Given the description of an element on the screen output the (x, y) to click on. 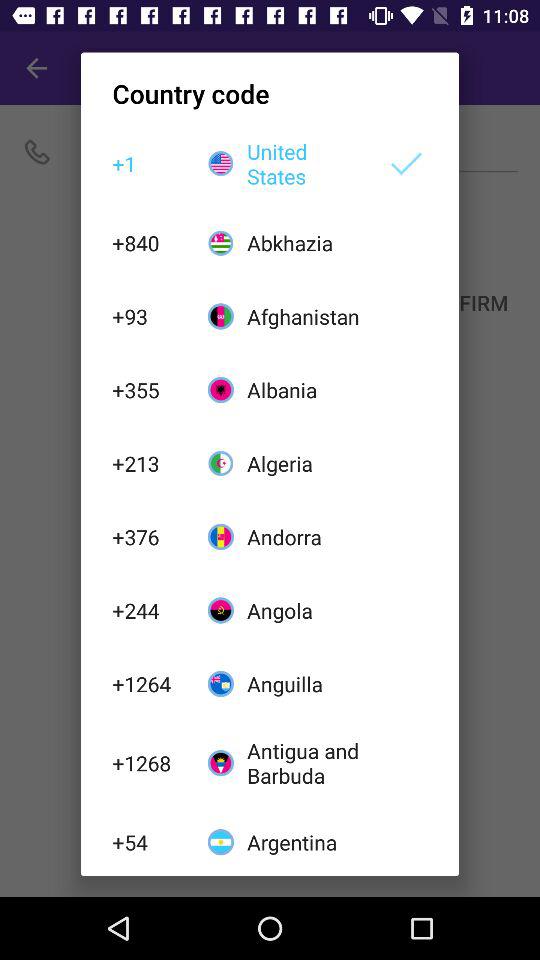
turn on icon below the +1268 icon (149, 842)
